Given the description of an element on the screen output the (x, y) to click on. 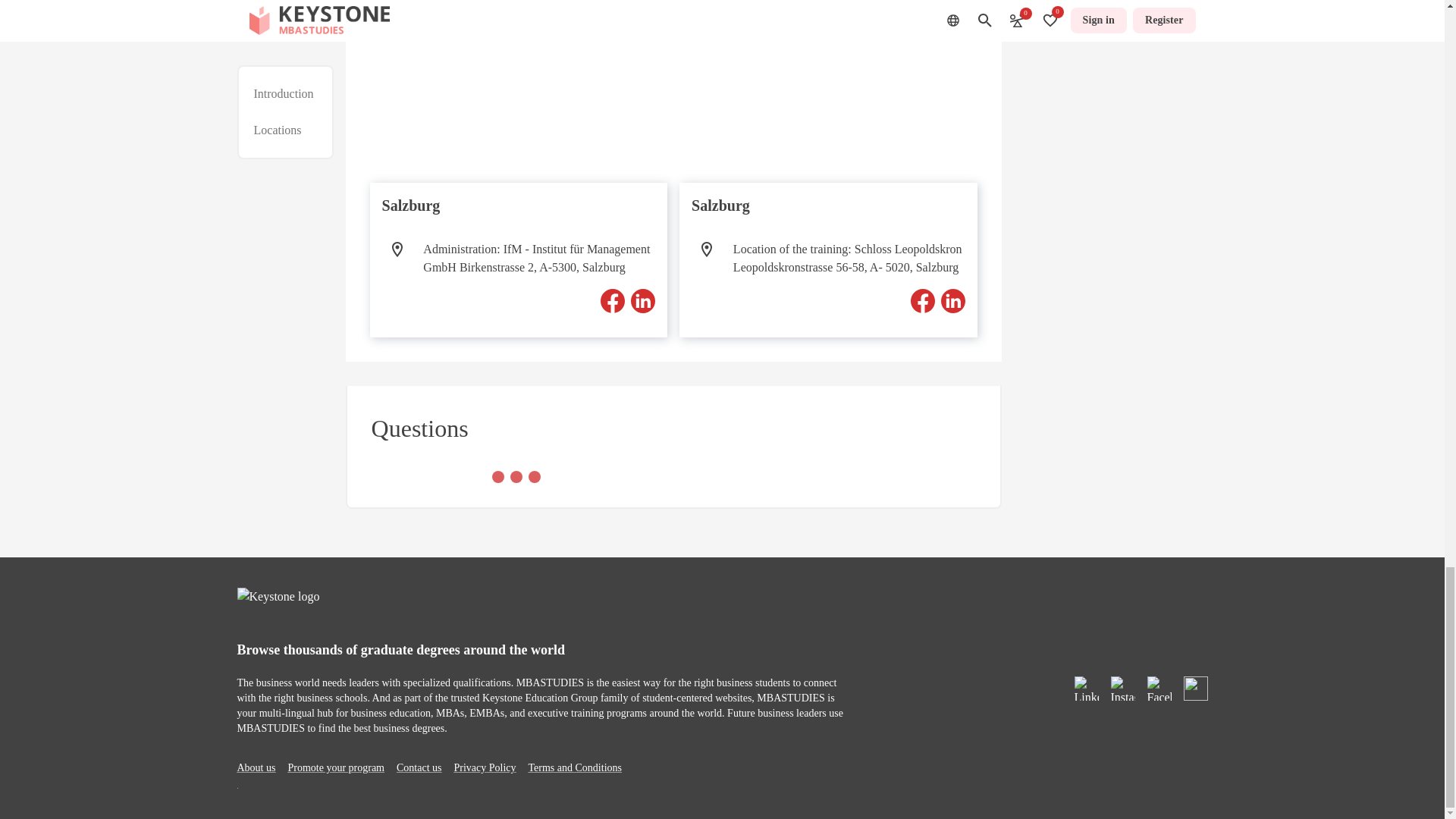
facebook (922, 300)
facebook (611, 300)
linkedin (952, 300)
linkedin (642, 300)
